Given the description of an element on the screen output the (x, y) to click on. 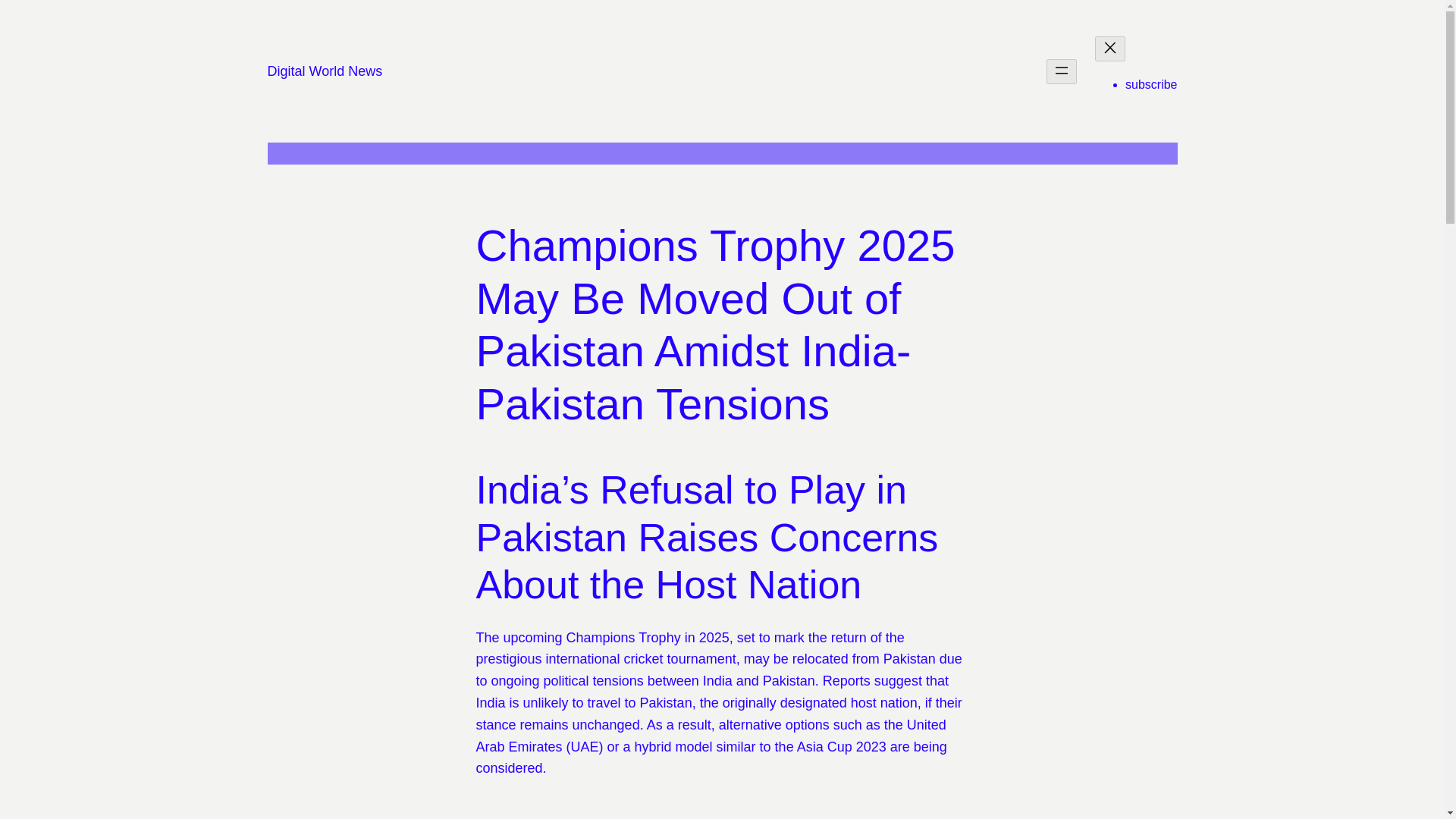
subscribe (1150, 83)
Digital World News (323, 70)
